Given the description of an element on the screen output the (x, y) to click on. 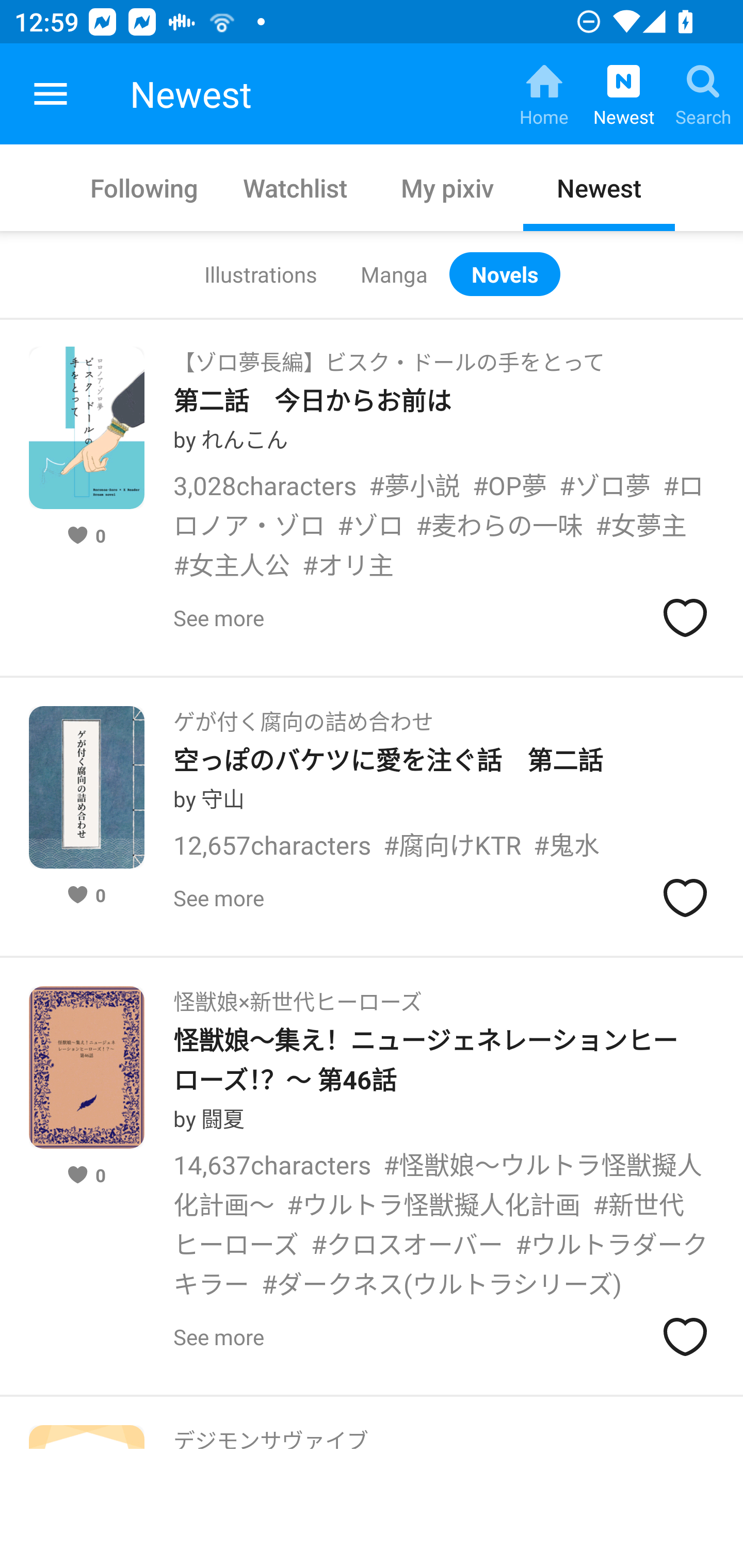
pixiv (50, 93)
Home (543, 93)
Search (703, 93)
Following (143, 187)
Watchlist (295, 187)
My pixiv (447, 187)
Illustrations (260, 274)
Manga (393, 274)
Novels (504, 274)
【ゾロ夢長編】ビスク・ドールの手をとって (388, 355)
ゲが付く腐向の詰め合わせ (303, 715)
怪獣娘×新世代ヒーローズ (297, 995)
